Given the description of an element on the screen output the (x, y) to click on. 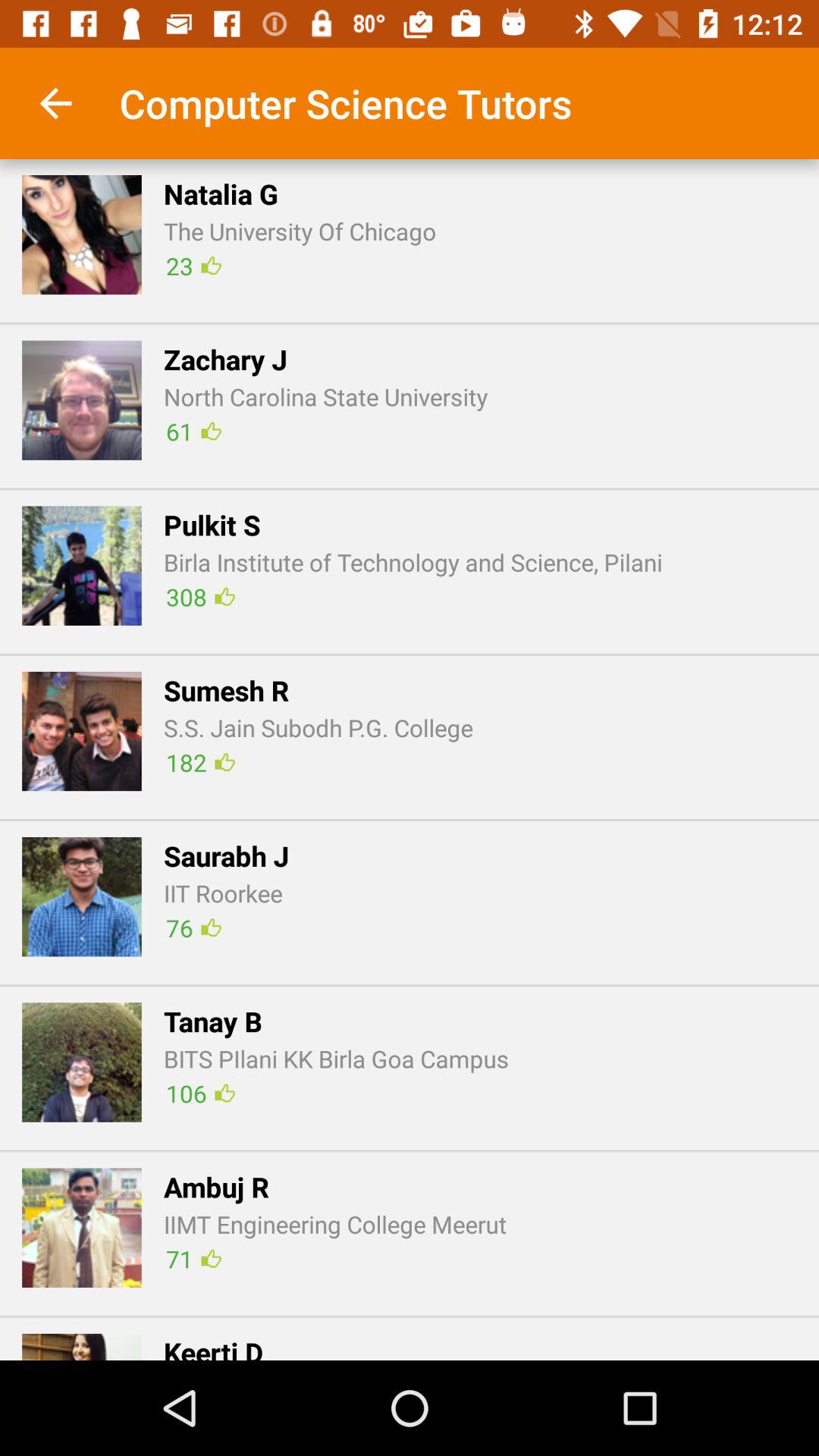
jump to 23 (193, 265)
